Given the description of an element on the screen output the (x, y) to click on. 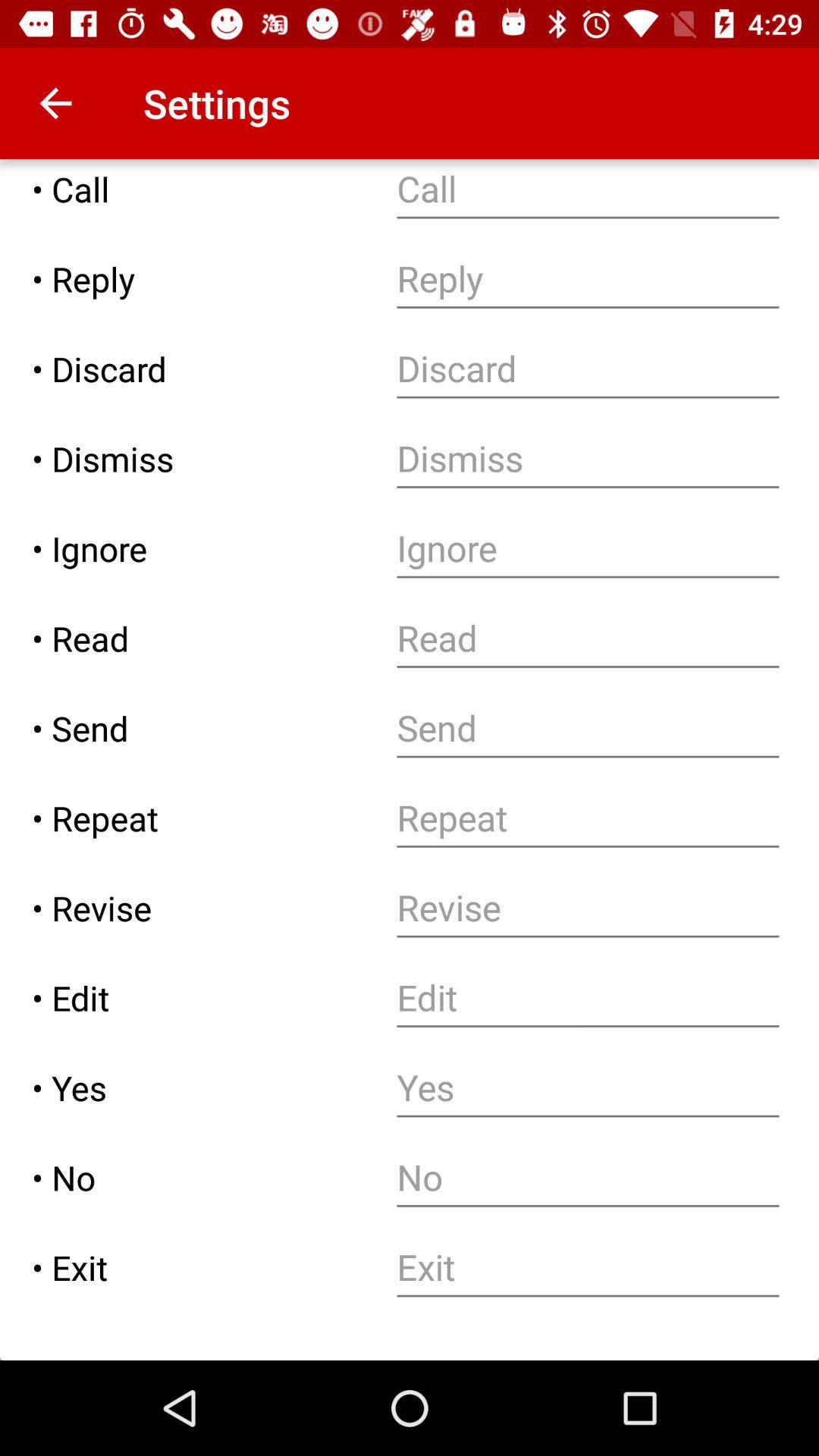
set the option (588, 1087)
